Given the description of an element on the screen output the (x, y) to click on. 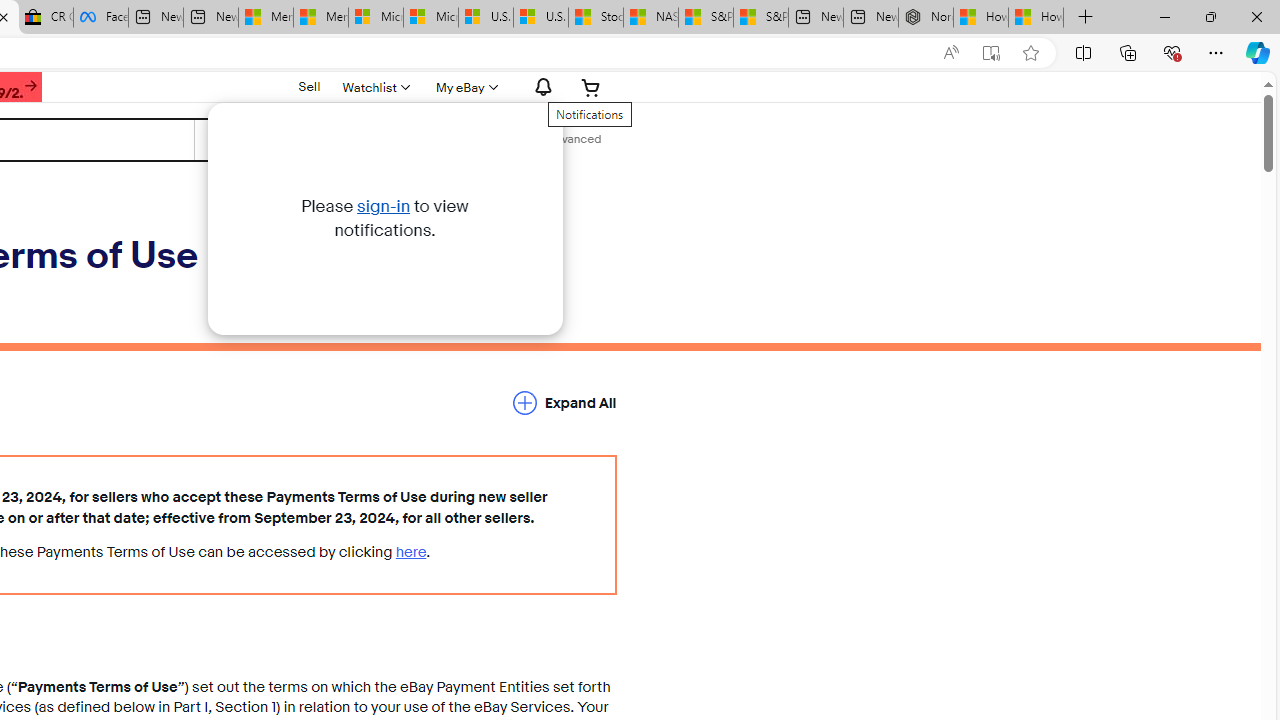
Enter Immersive Reader (F9) (991, 53)
Please sign-in to view notifications. (540, 87)
Sell (309, 87)
Sell (308, 86)
Expand Cart (591, 87)
WatchlistExpand Watch List (374, 87)
S&P 500, Nasdaq end lower, weighed by Nvidia dip | Watch (760, 17)
